Given the description of an element on the screen output the (x, y) to click on. 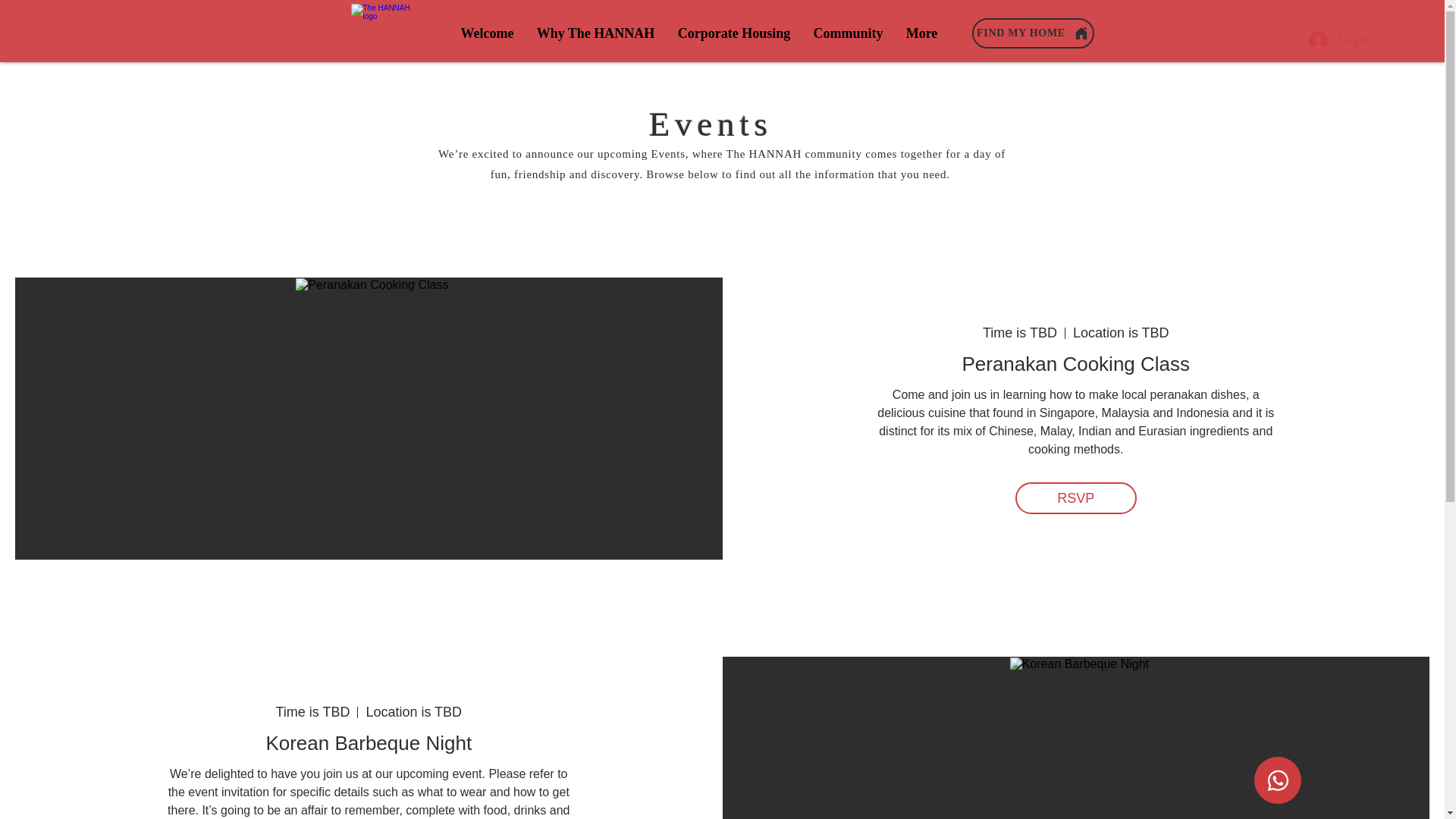
FIND MY HOME (1033, 33)
Peranakan Cooking Class (1074, 363)
Corporate Housing (733, 33)
Why The HANNAH (594, 33)
Welcome (486, 33)
Log In (1339, 39)
Korean Barbeque Night (368, 743)
RSVP (1075, 498)
